Given the description of an element on the screen output the (x, y) to click on. 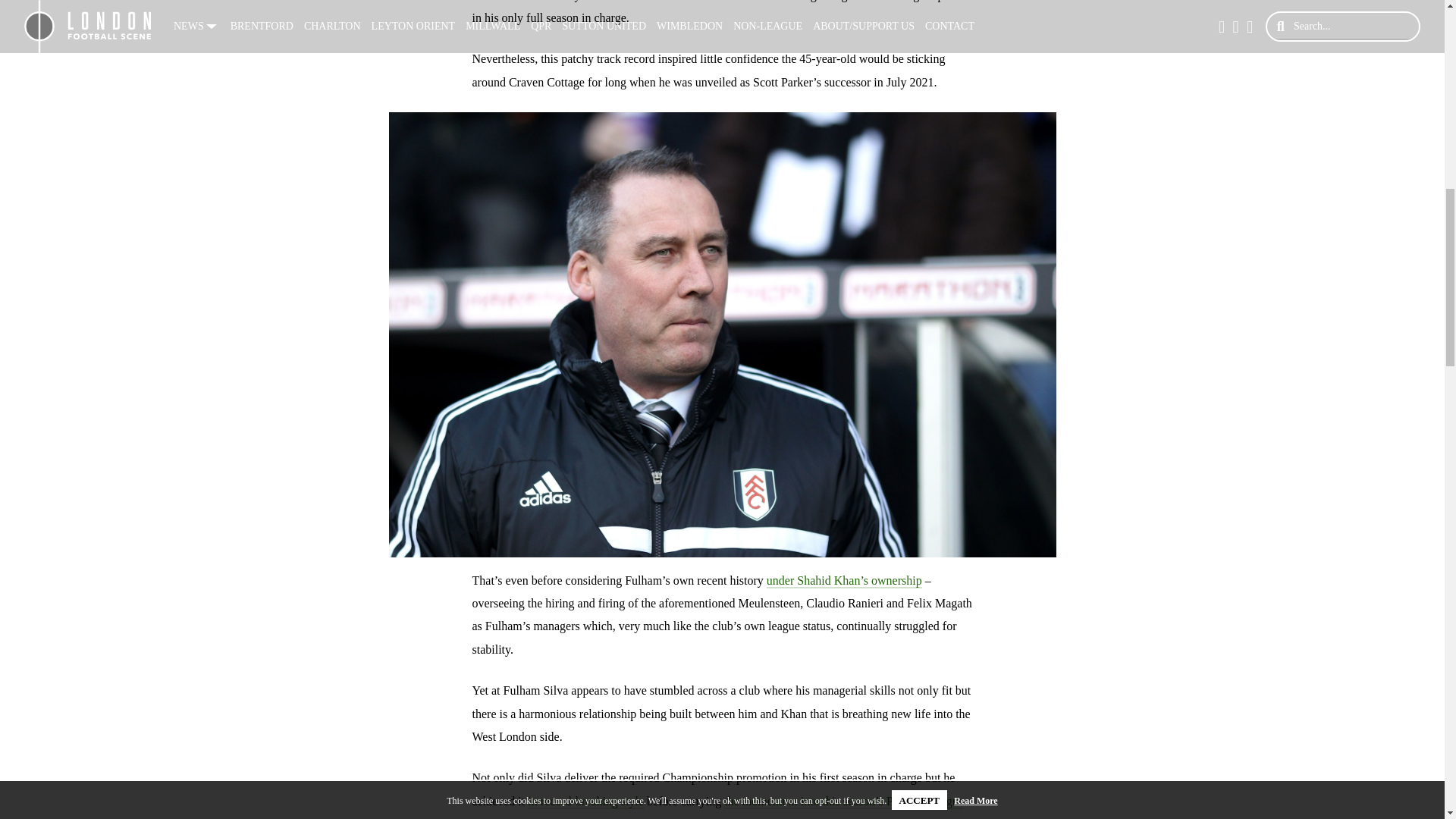
in record-breaking style (585, 801)
